Given the description of an element on the screen output the (x, y) to click on. 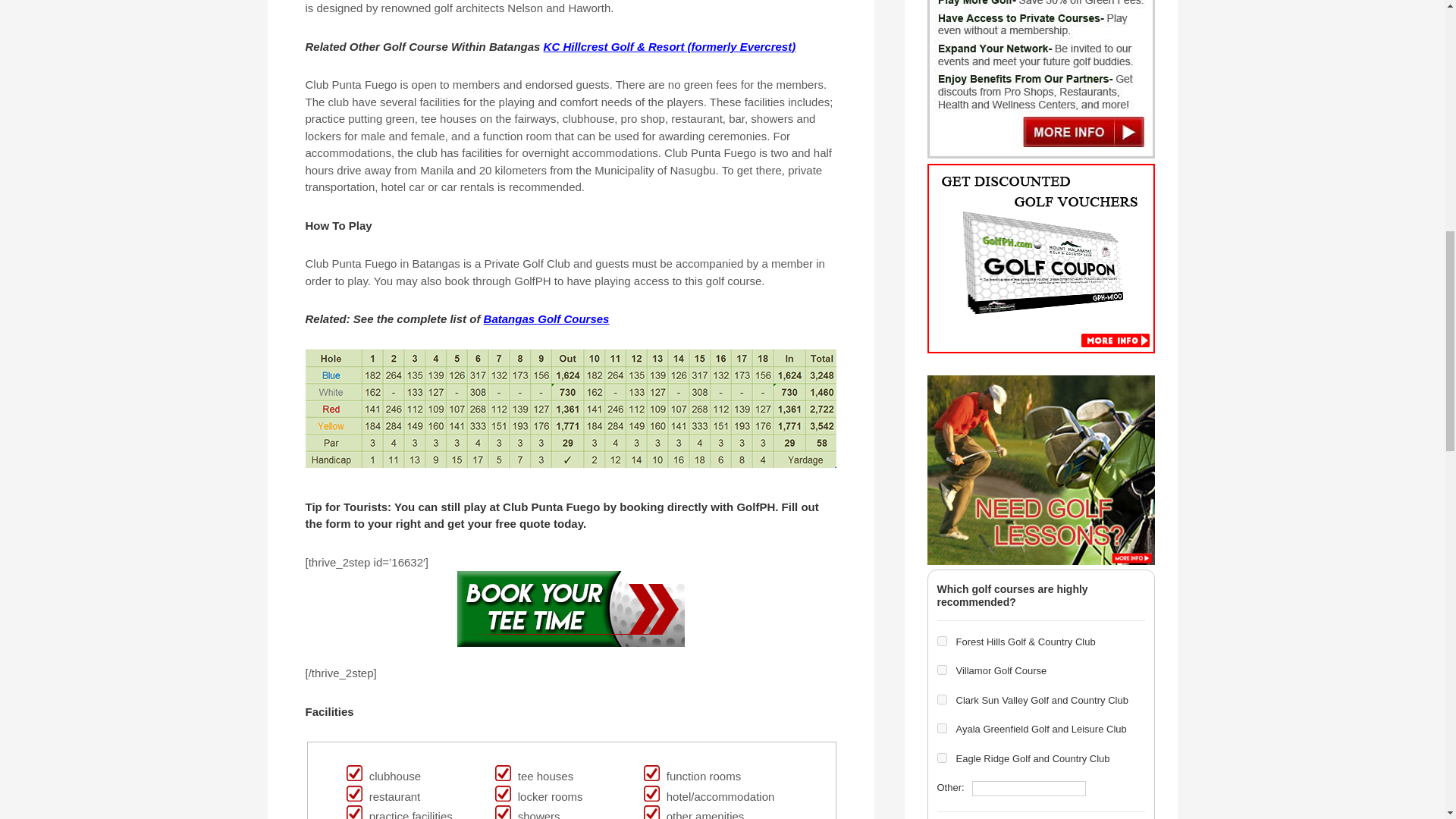
Book your tee time at Club Punta Fuego (570, 608)
40551857 (942, 669)
40551856 (942, 641)
40551854 (942, 728)
40551858 (942, 699)
Full list of Batangas Golf Courses (546, 318)
Club Punta Fuego Scorecard (569, 408)
40551855 (942, 757)
